Given the description of an element on the screen output the (x, y) to click on. 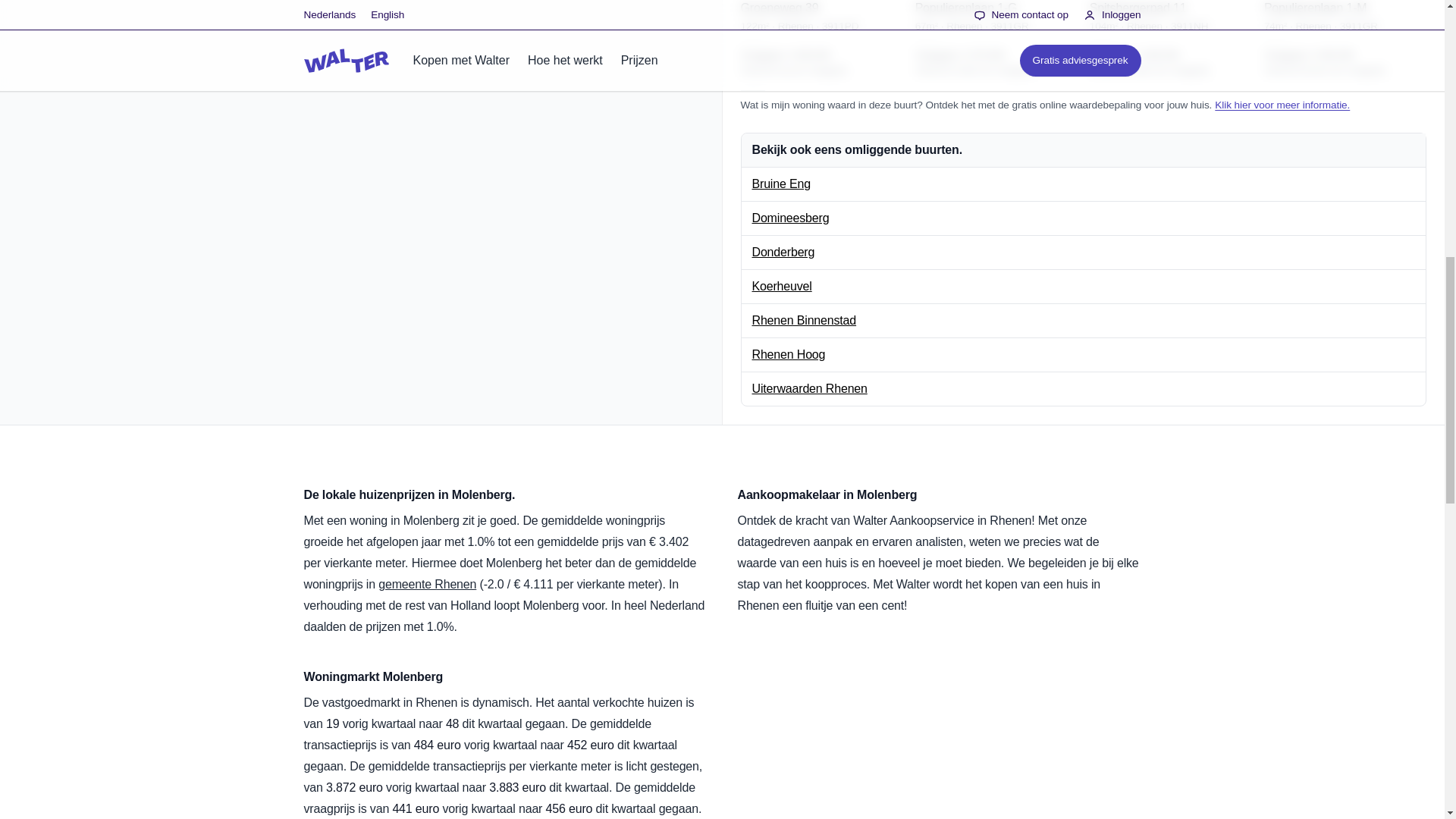
Spitsbergerpad 11, Rhenen (1170, 39)
Populierenlaan 1-M, Rhenen (1344, 39)
Groeneweg 39, Rhenen (820, 39)
Populierenlaan 1-G, Rhenen (996, 39)
